Given the description of an element on the screen output the (x, y) to click on. 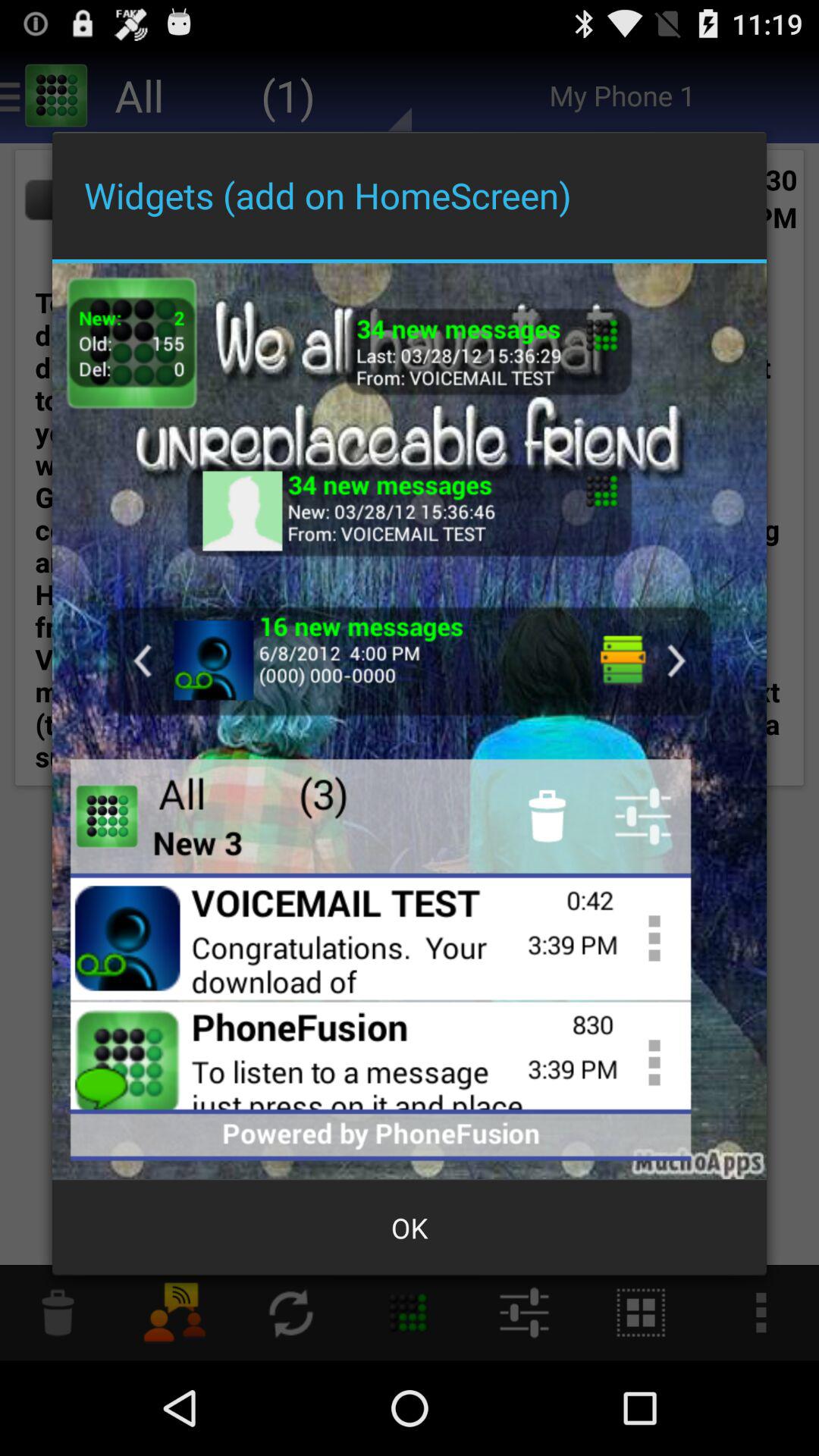
turn on icon at the top left corner (131, 342)
